Given the description of an element on the screen output the (x, y) to click on. 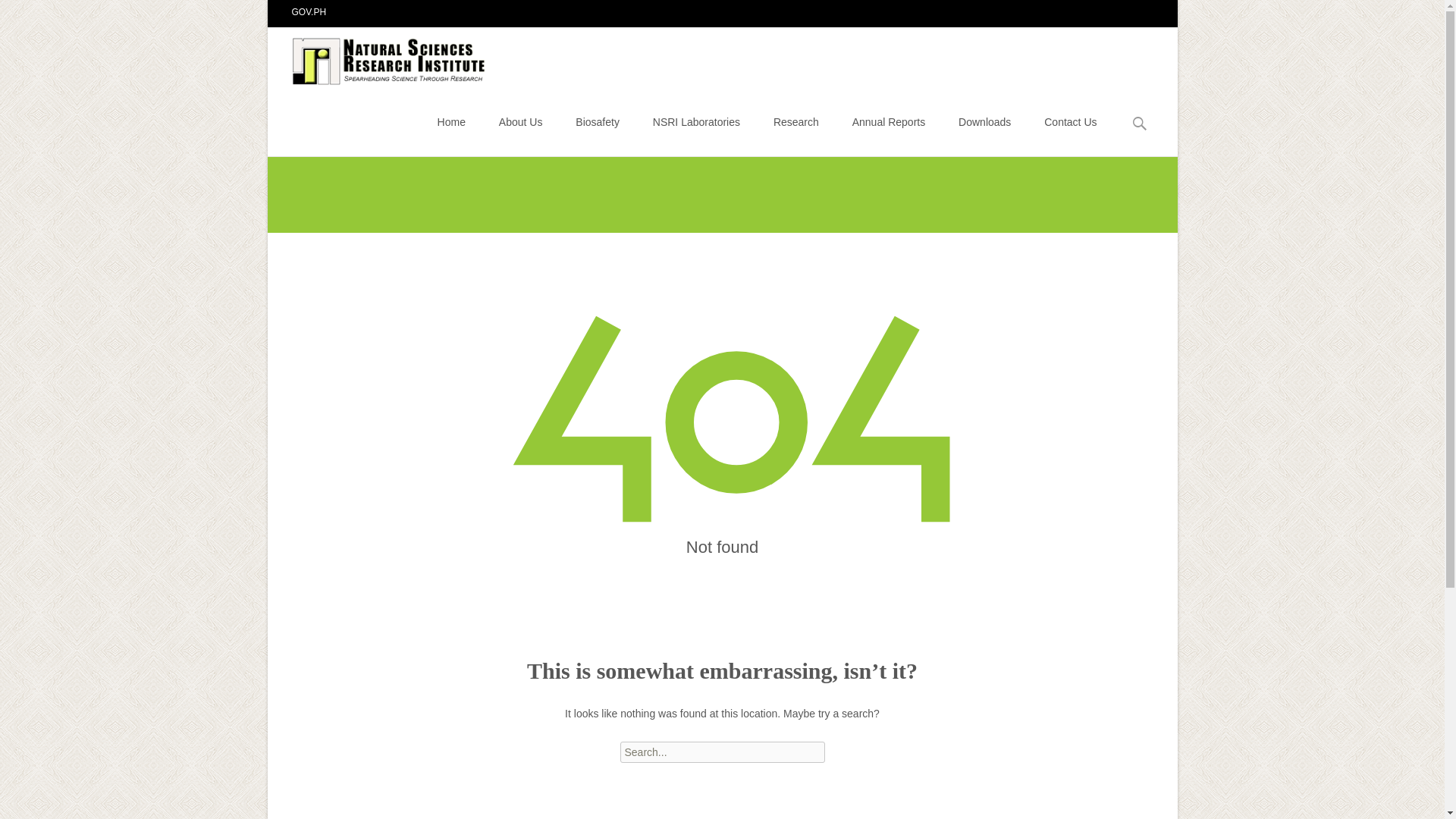
Annual Reports (888, 121)
Biosafety (597, 121)
Downloads (984, 121)
Contact Us (1069, 121)
GOV.PH (308, 11)
About Us (521, 121)
Search (18, 14)
Natural Sciences Research Institute (378, 57)
Home (451, 121)
Search for: (1139, 123)
NSRI Laboratories (695, 121)
Research (795, 121)
Search for: (722, 752)
Search (34, 14)
